Given the description of an element on the screen output the (x, y) to click on. 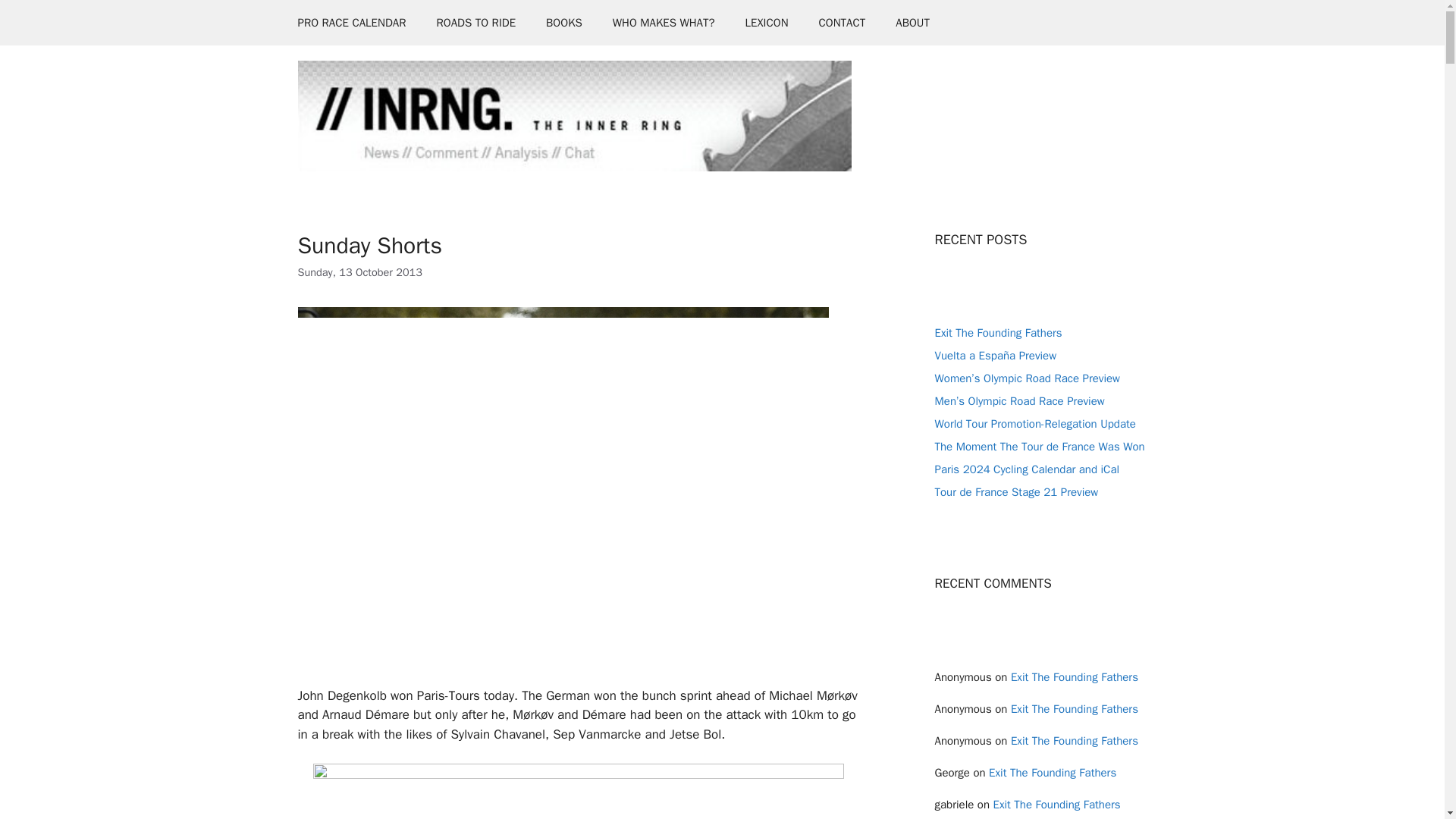
BOOKS (563, 22)
ROADS TO RIDE (475, 22)
WHO MAKES WHAT? (663, 22)
LEXICON (766, 22)
CONTACT (841, 22)
ABOUT (912, 22)
PRO RACE CALENDAR (351, 22)
